Given the description of an element on the screen output the (x, y) to click on. 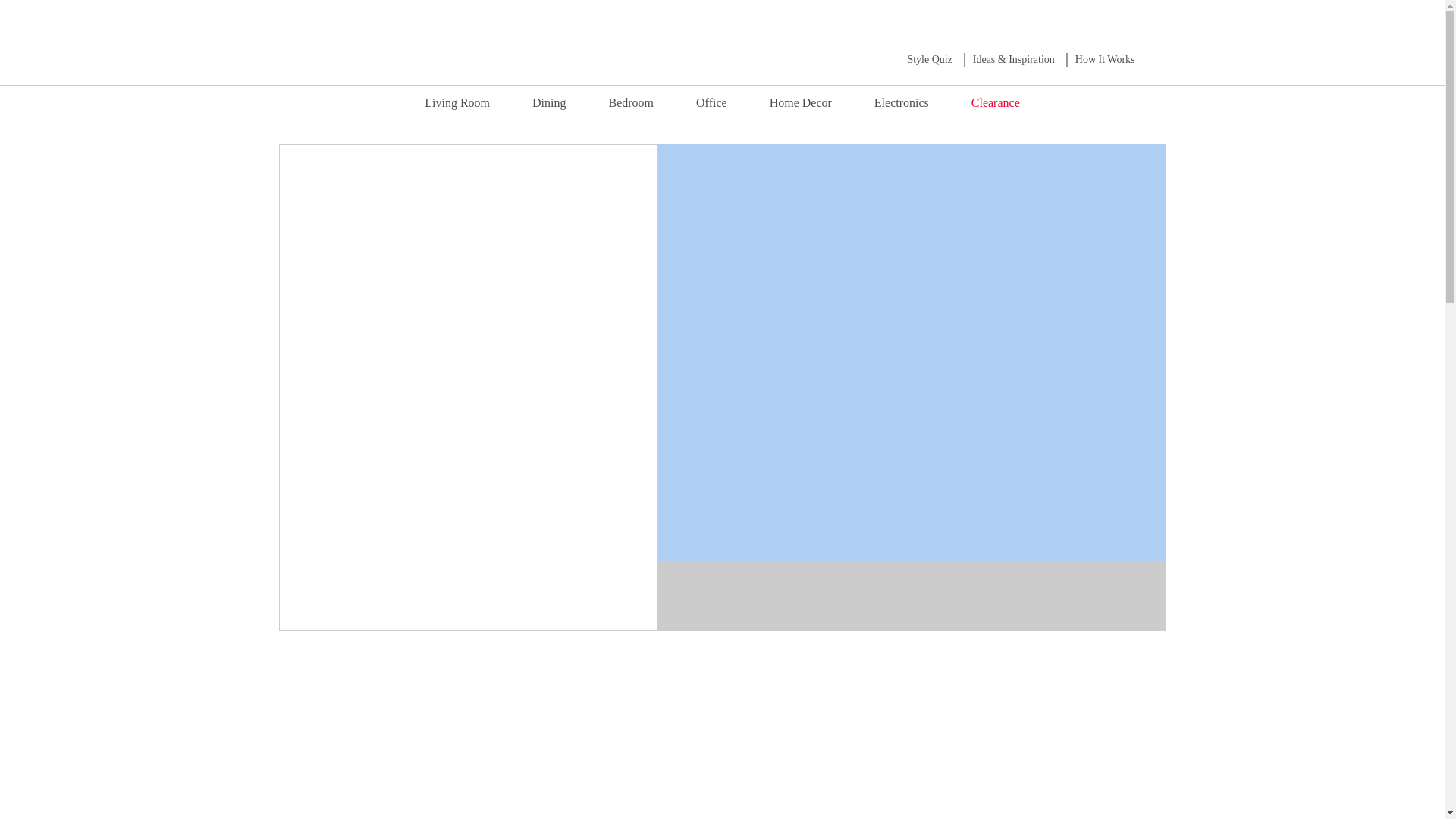
How It Works (1106, 59)
Dining (548, 102)
Style Quiz (929, 59)
Clearance (995, 102)
Electronics (901, 102)
Office (711, 102)
Living Room (457, 102)
Home Decor (800, 102)
Bedroom (630, 102)
